Given the description of an element on the screen output the (x, y) to click on. 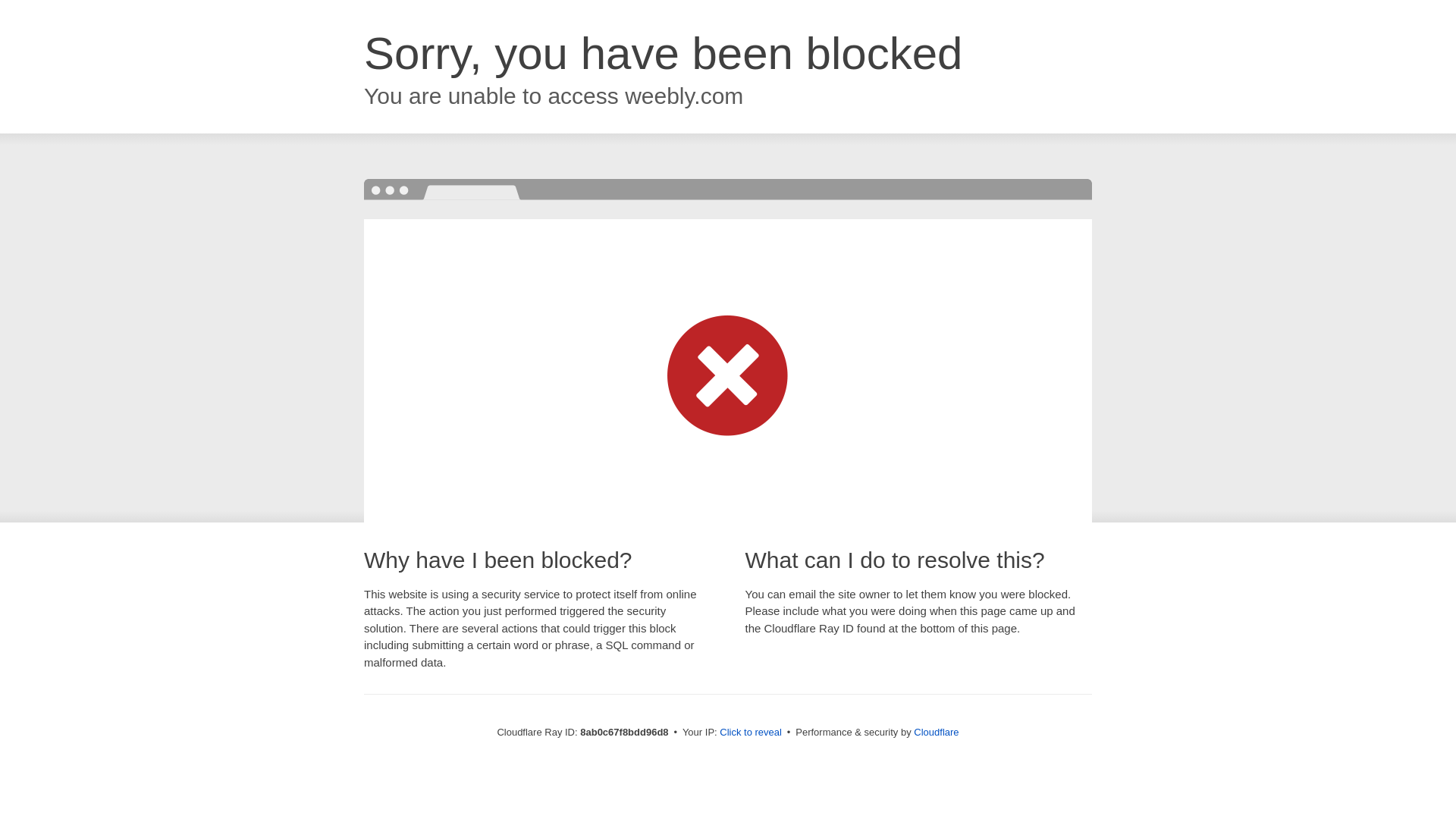
Cloudflare (936, 731)
Click to reveal (750, 732)
